Given the description of an element on the screen output the (x, y) to click on. 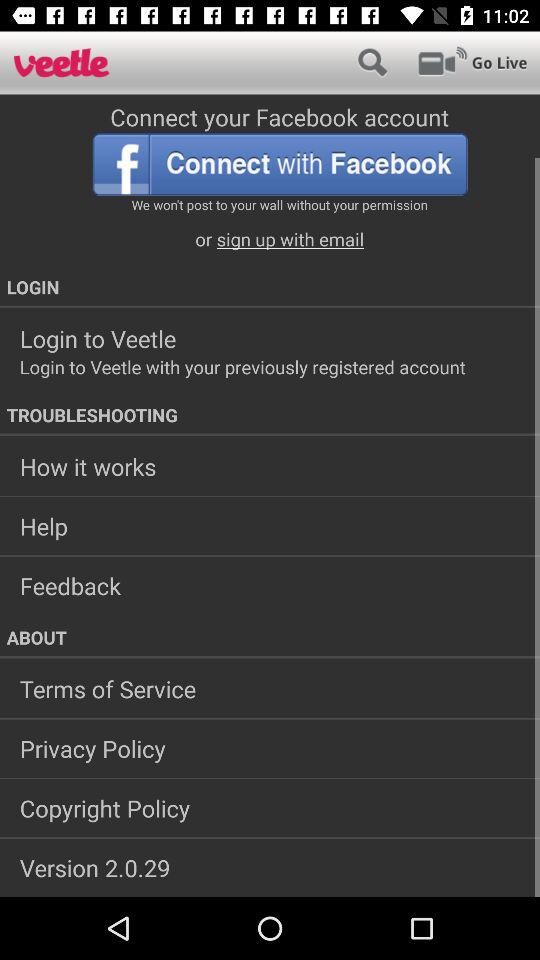
open home page (61, 62)
